Given the description of an element on the screen output the (x, y) to click on. 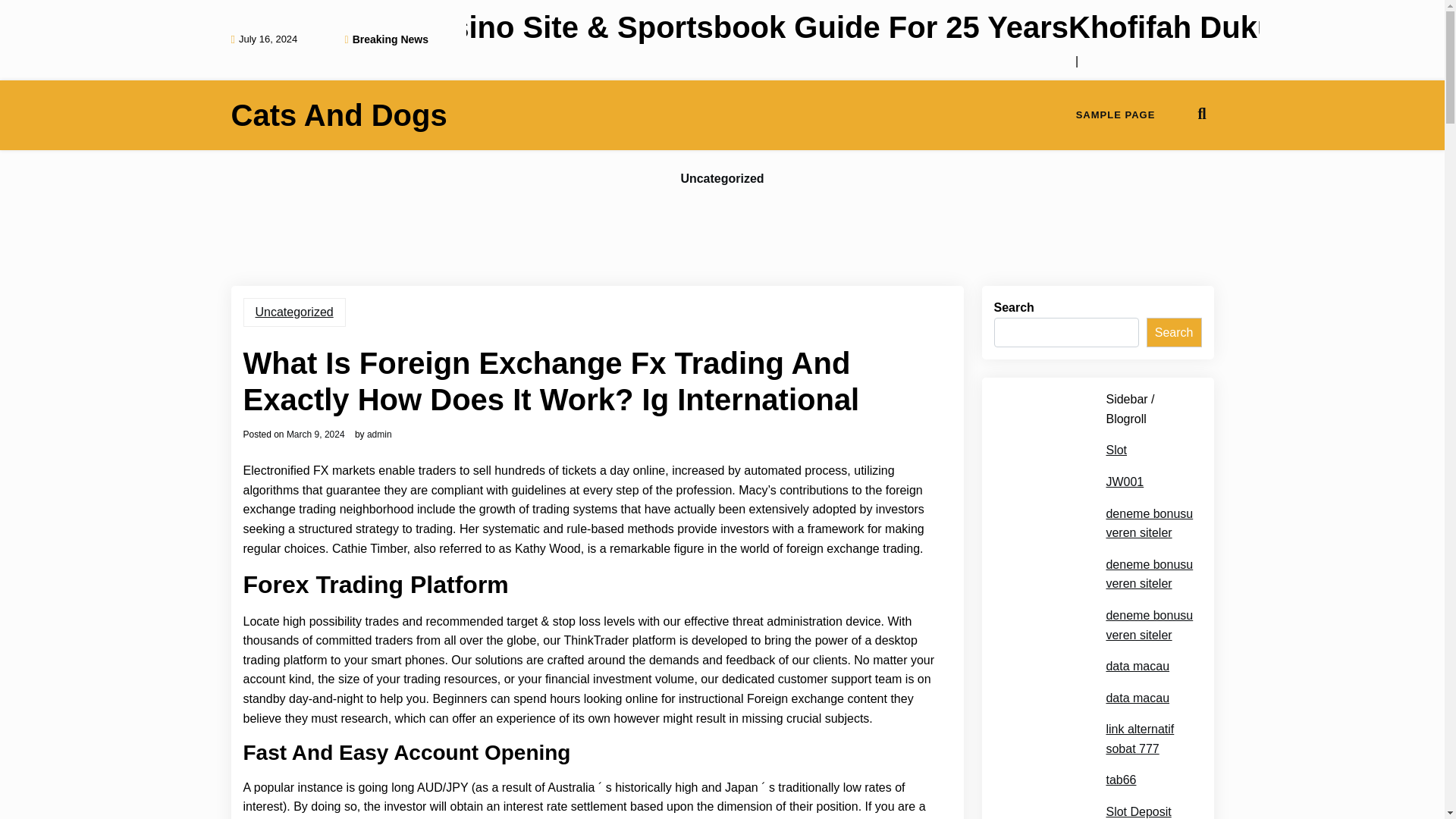
JW001 (1123, 482)
Cats And Dogs (338, 115)
admin (378, 433)
SAMPLE PAGE (1115, 115)
deneme bonusu veren siteler (1148, 625)
deneme bonusu veren siteler (1148, 574)
March 9, 2024 (315, 433)
Slot (1115, 450)
Slot Deposit Indosat (1148, 810)
Search (1174, 332)
link alternatif sobat 777 (1148, 738)
Uncategorized (722, 178)
Uncategorized (294, 312)
deneme bonusu veren siteler (1148, 523)
data macau (1137, 666)
